Given the description of an element on the screen output the (x, y) to click on. 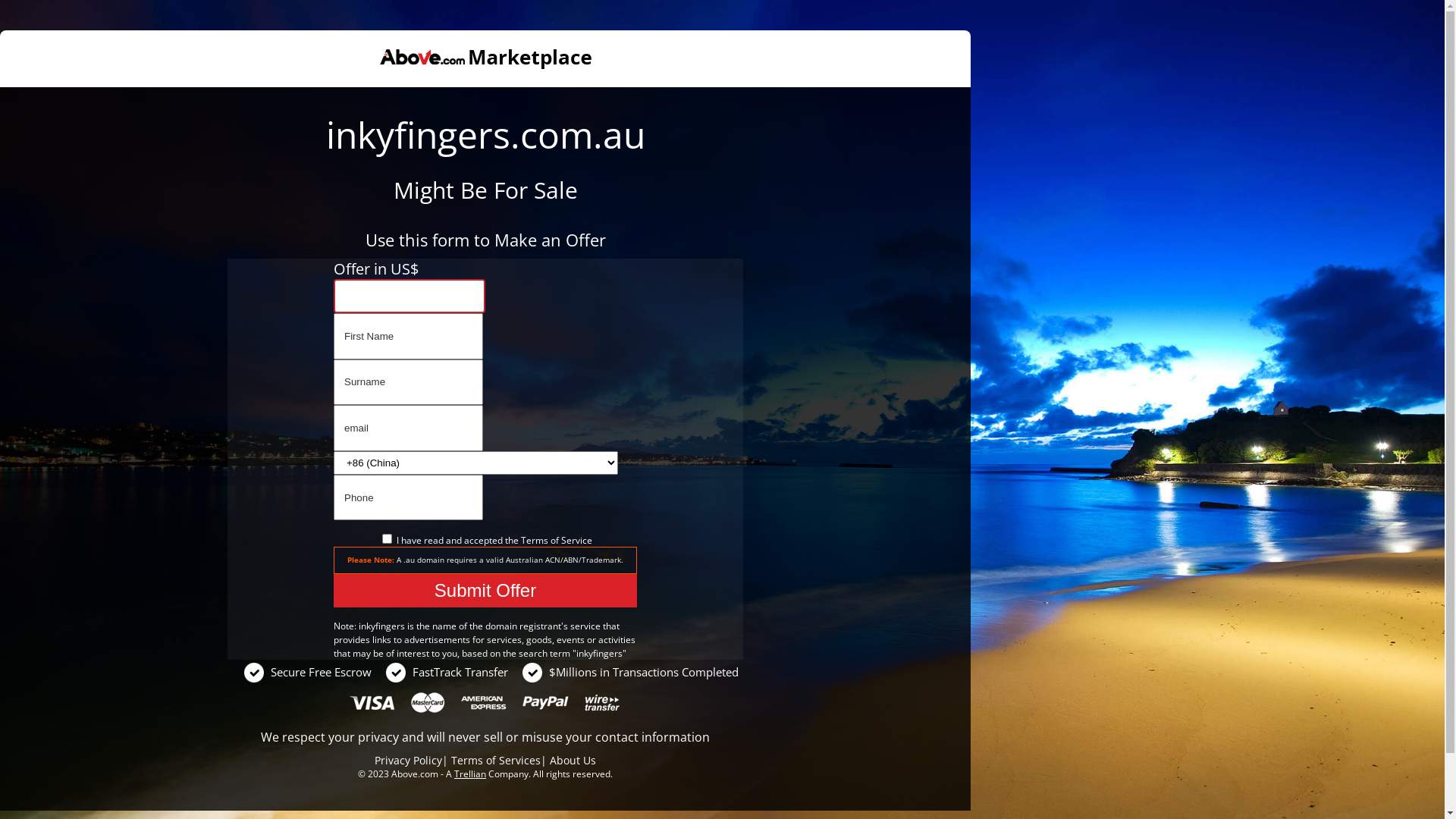
Privacy Policy Element type: text (408, 760)
Terms Element type: text (533, 539)
Terms of Services Element type: text (495, 760)
Submit Offer Element type: text (485, 590)
About Us Element type: text (572, 760)
Trellian Element type: text (470, 773)
